Given the description of an element on the screen output the (x, y) to click on. 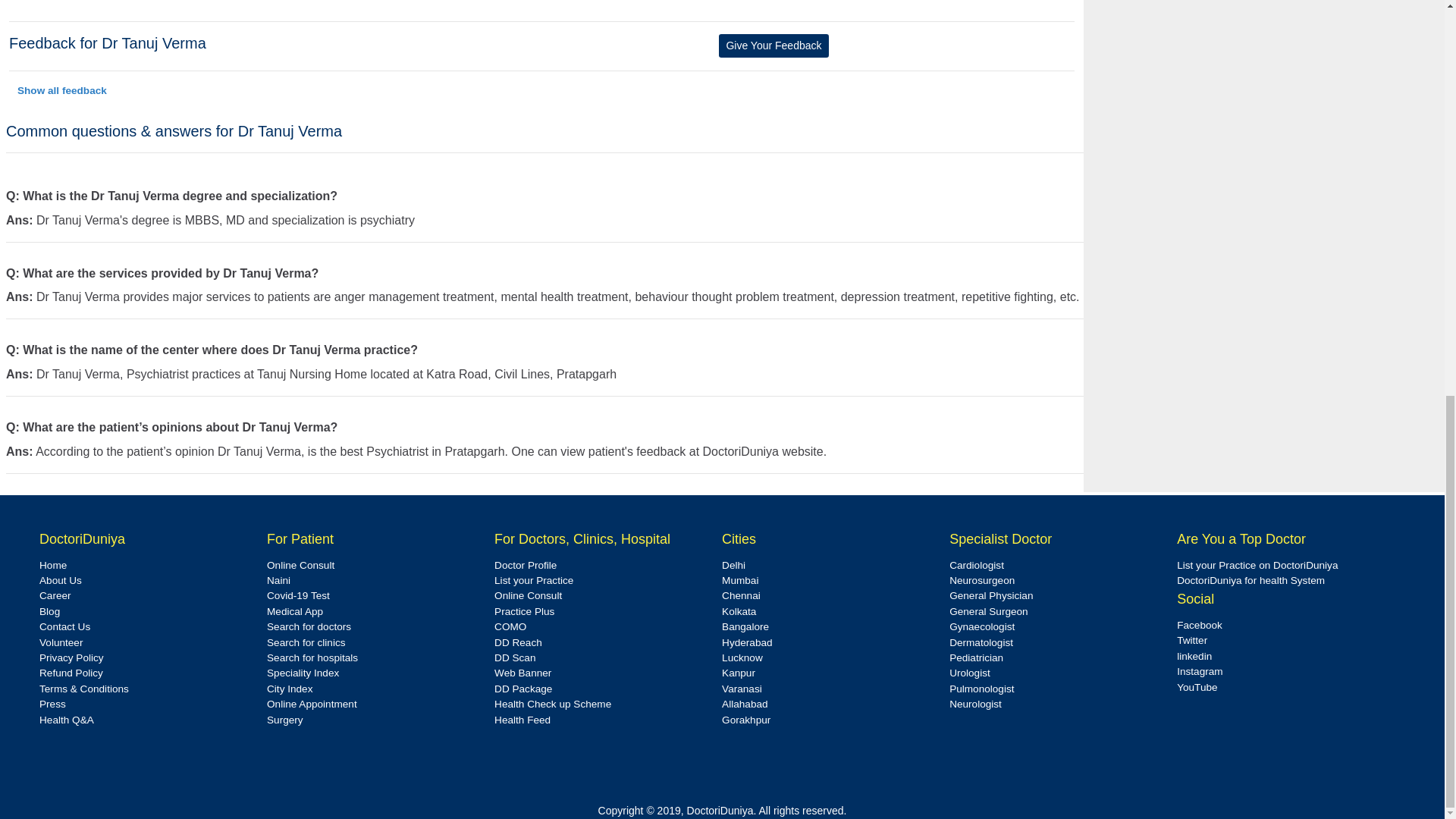
Show all feedback (61, 90)
Give Your Feedback (773, 45)
